Given the description of an element on the screen output the (x, y) to click on. 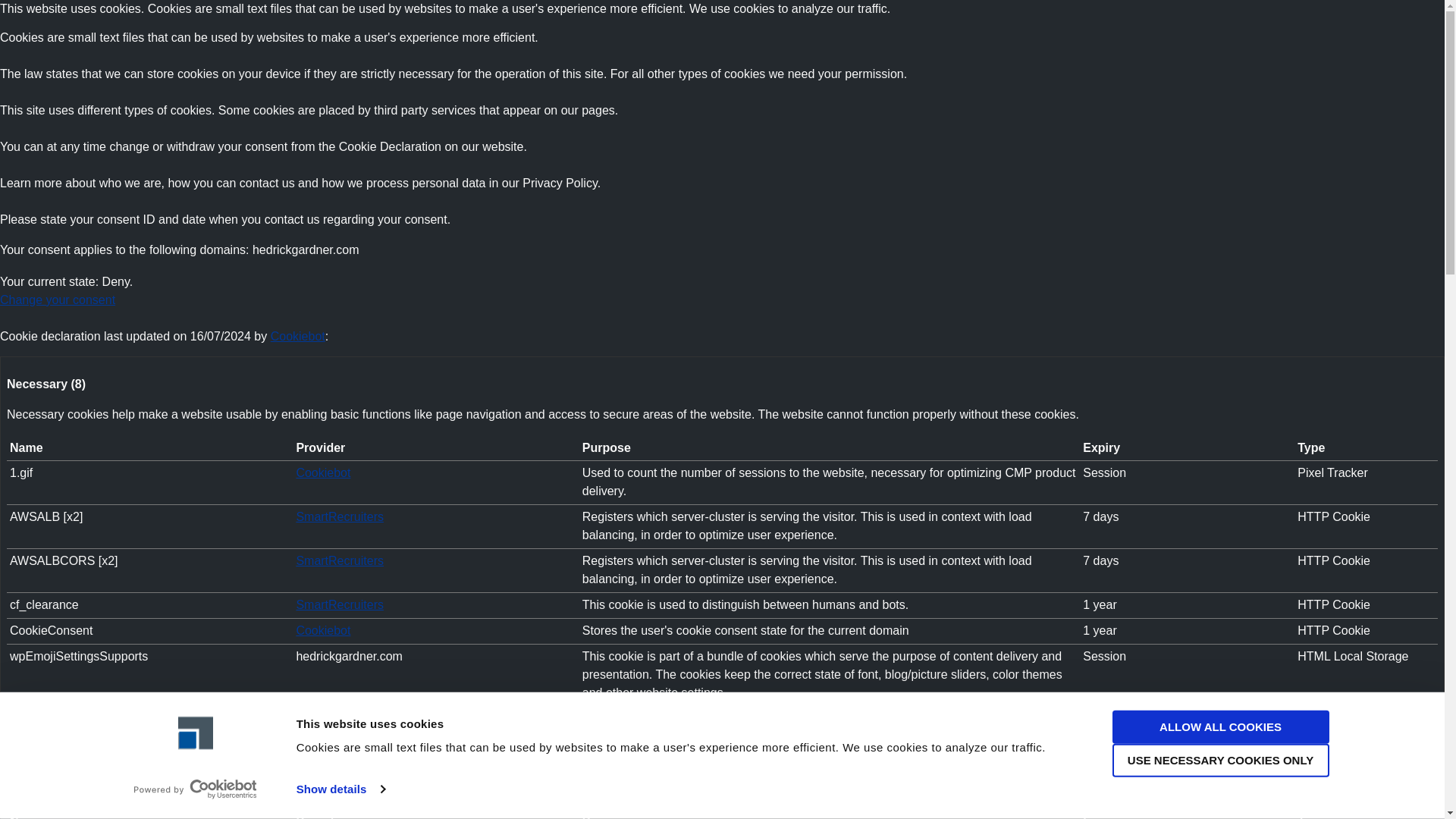
SmartRecruiters's privacy policy (339, 516)
SmartRecruiters (339, 516)
Cookiebot's privacy policy (322, 472)
SmartRecruiters's privacy policy (339, 604)
SmartRecruiters's privacy policy (339, 560)
Cookiebot (297, 336)
SmartRecruiters (339, 560)
Show details (340, 789)
ALLOW ALL COOKIES (1219, 726)
Cookiebot (322, 630)
Cookiebot (297, 336)
Cookiebot's privacy policy (322, 630)
Change your consent (57, 299)
USE NECESSARY COOKIES ONLY (1219, 760)
Cookiebot (322, 472)
